Given the description of an element on the screen output the (x, y) to click on. 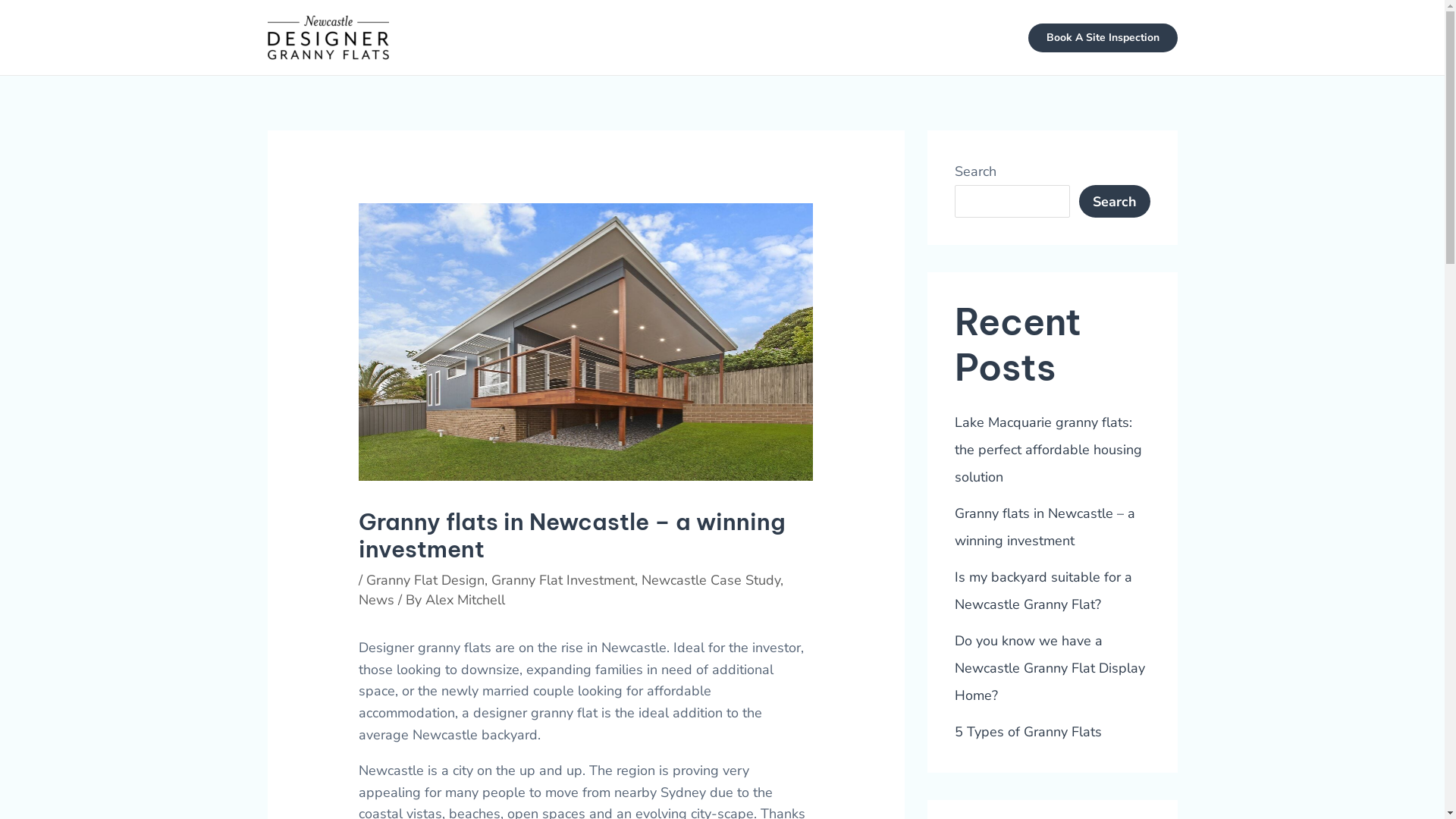
Do you know we have a Newcastle Granny Flat Display Home? Element type: text (1048, 667)
Newcastle Case Study Element type: text (710, 580)
Alex Mitchell Element type: text (465, 599)
Search Element type: text (1113, 201)
Book A Site Inspection Element type: text (1102, 36)
News Element type: text (376, 599)
Granny Flat Investment Element type: text (562, 580)
5 Types of Granny Flats Element type: text (1027, 731)
Is my backyard suitable for a Newcastle Granny Flat? Element type: text (1042, 590)
Granny Flat Design Element type: text (425, 580)
